Given the description of an element on the screen output the (x, y) to click on. 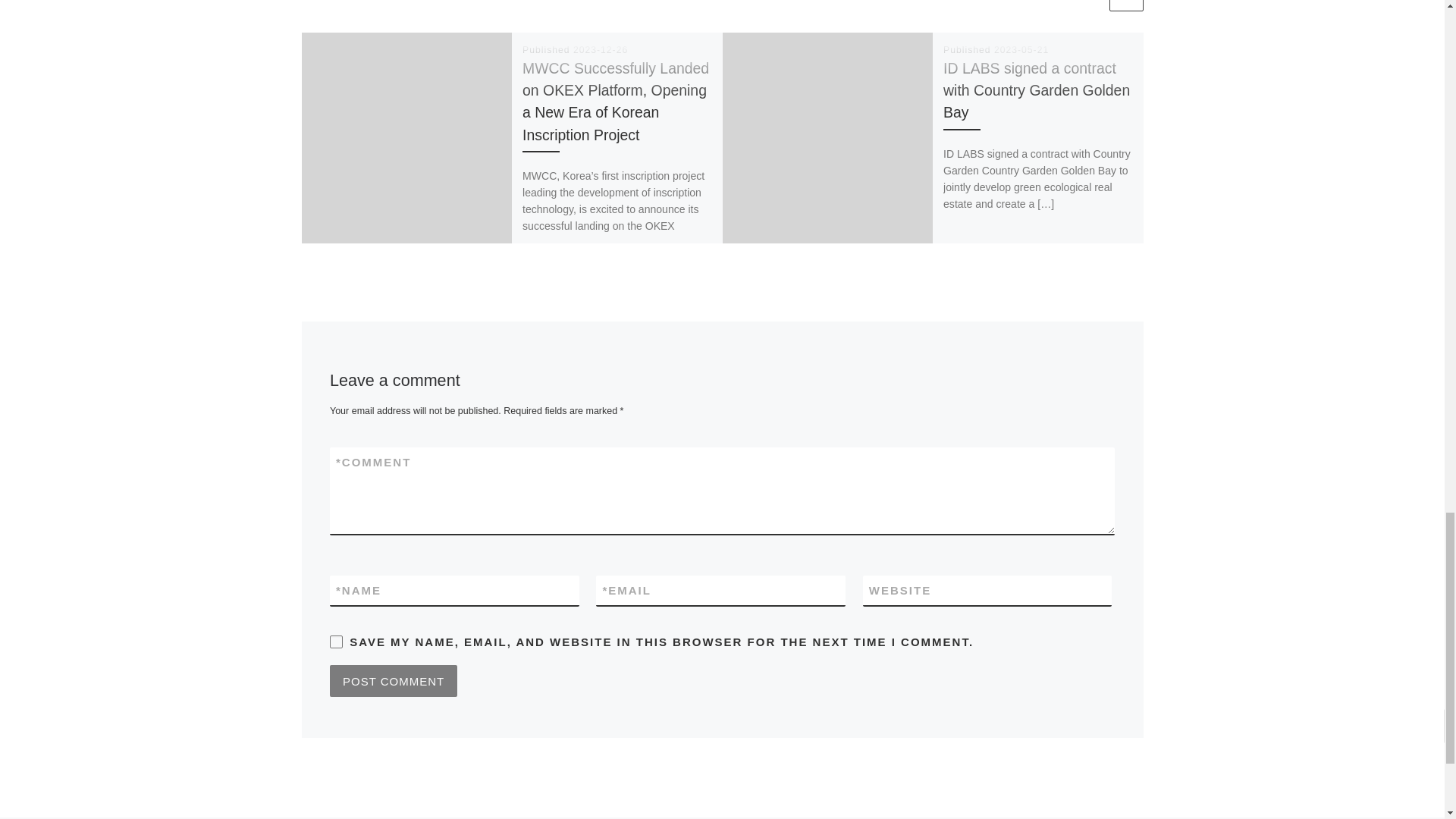
Previous related articles (1088, 5)
Post Comment (393, 680)
Post Comment (393, 680)
yes (336, 641)
2023-12-26 (600, 50)
Next related articles (1125, 5)
ID LABS signed a contract with Country Garden Golden Bay (1036, 89)
